Given the description of an element on the screen output the (x, y) to click on. 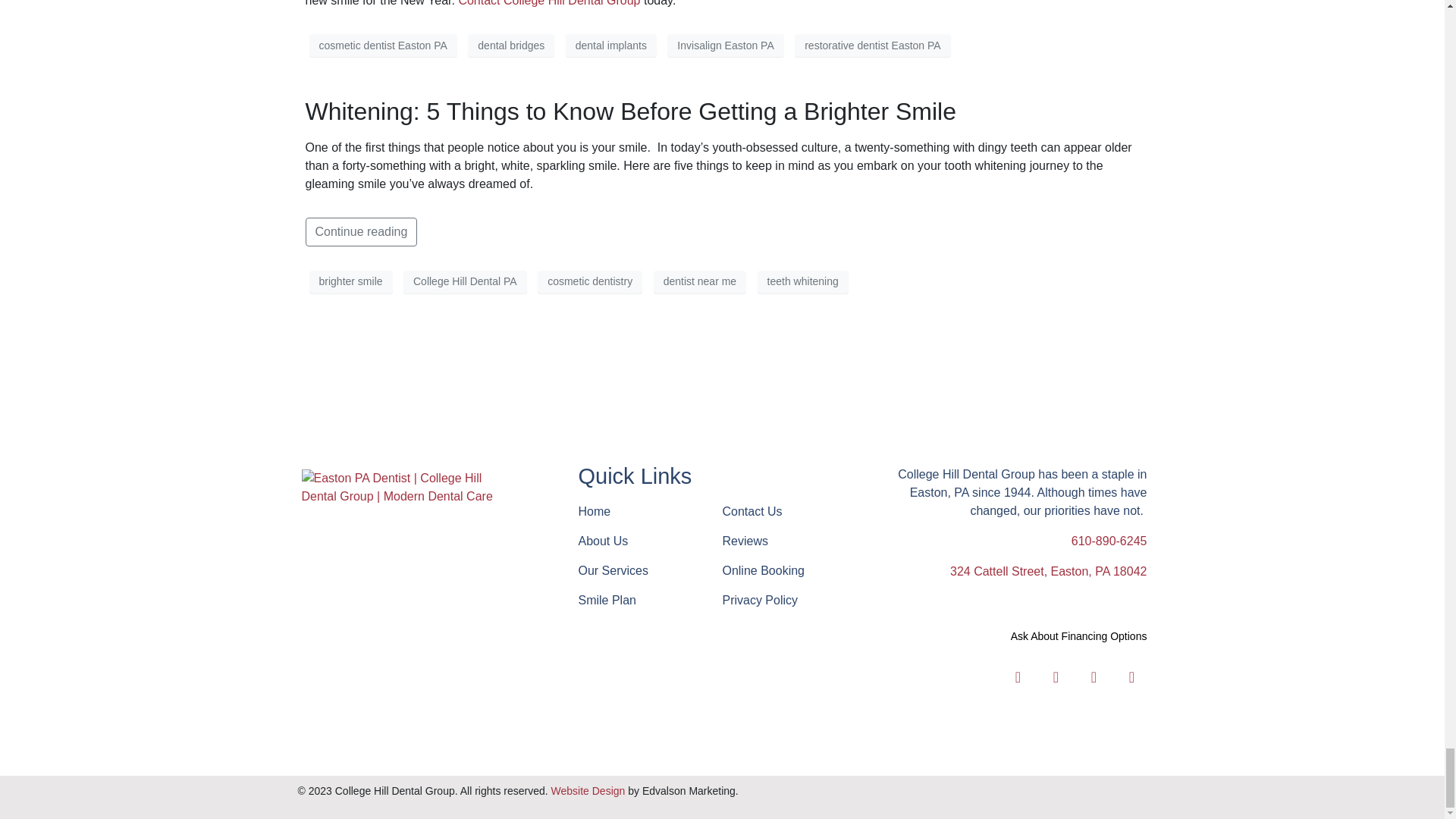
Whitening: 5 Things to Know Before Getting a Brighter Smile (630, 111)
